Given the description of an element on the screen output the (x, y) to click on. 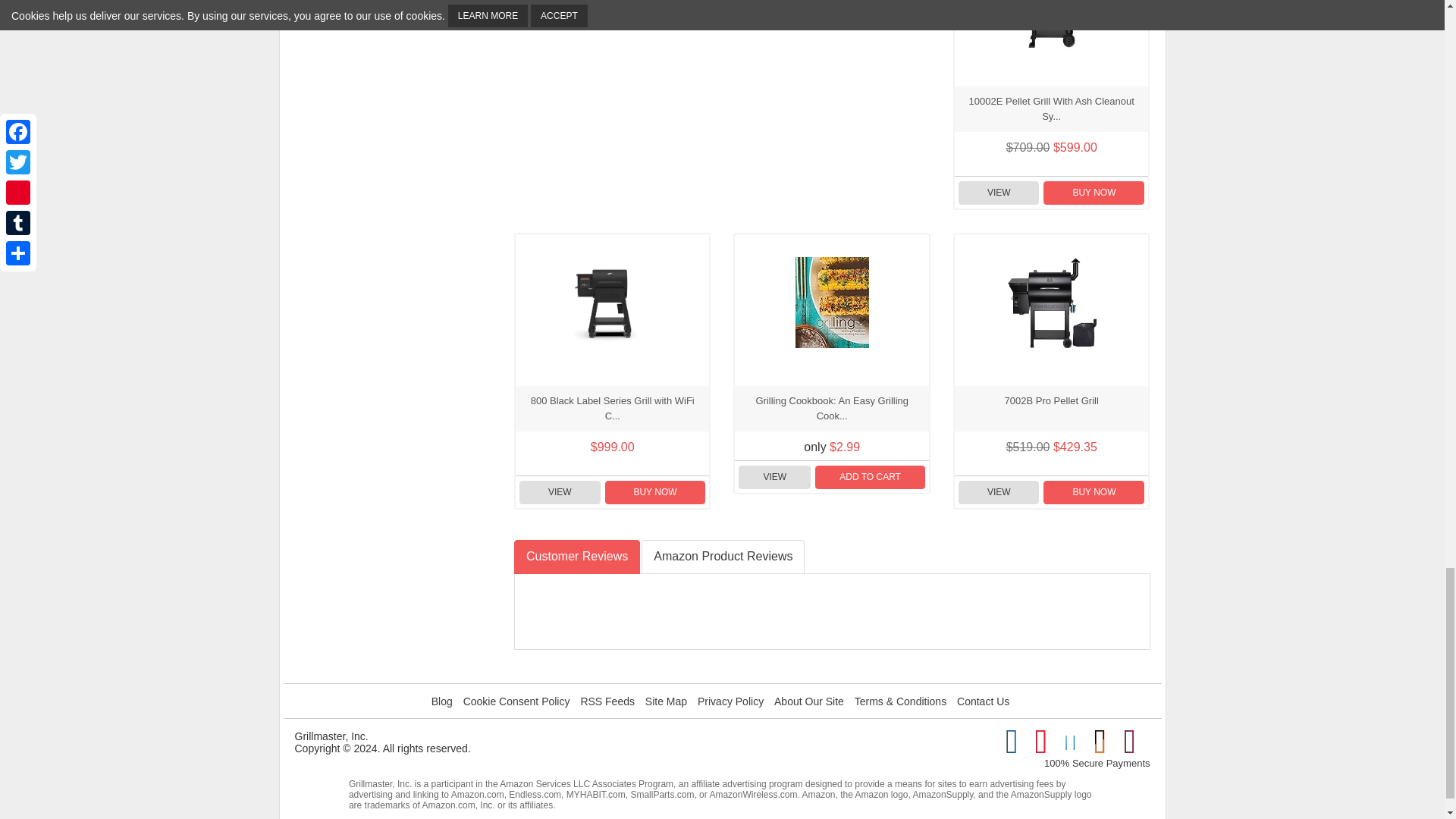
7002B Pro Pellet Grill (1051, 302)
800 Black Label Series Grill with WiFi Control (612, 302)
10002E Pellet Grill With Ash Cleanout System (1051, 24)
